Given the description of an element on the screen output the (x, y) to click on. 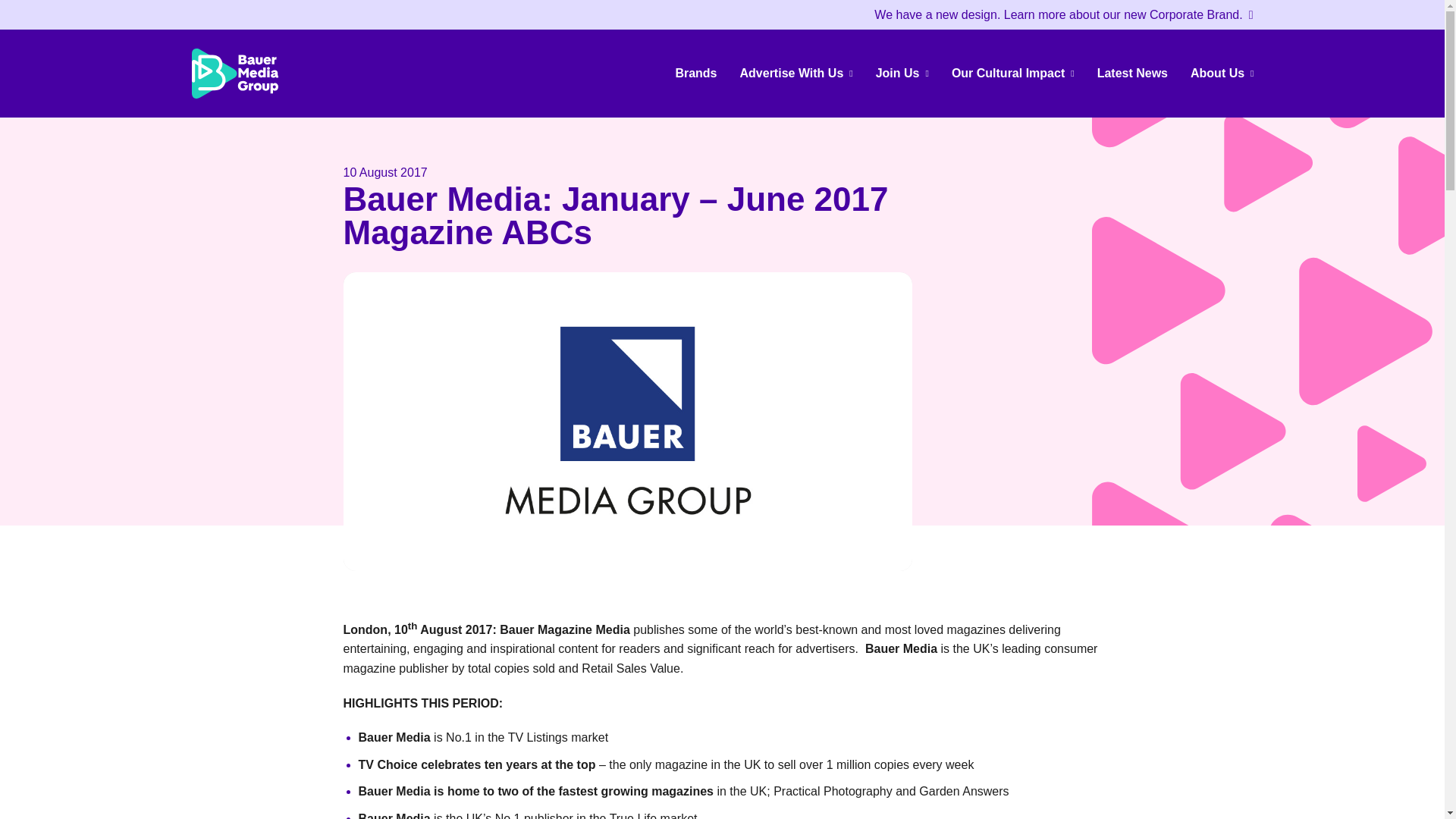
Join Us (902, 73)
Brands (695, 73)
Our Cultural Impact (1013, 73)
About Us (1222, 73)
Latest News (1132, 73)
Advertise With Us (796, 73)
